Given the description of an element on the screen output the (x, y) to click on. 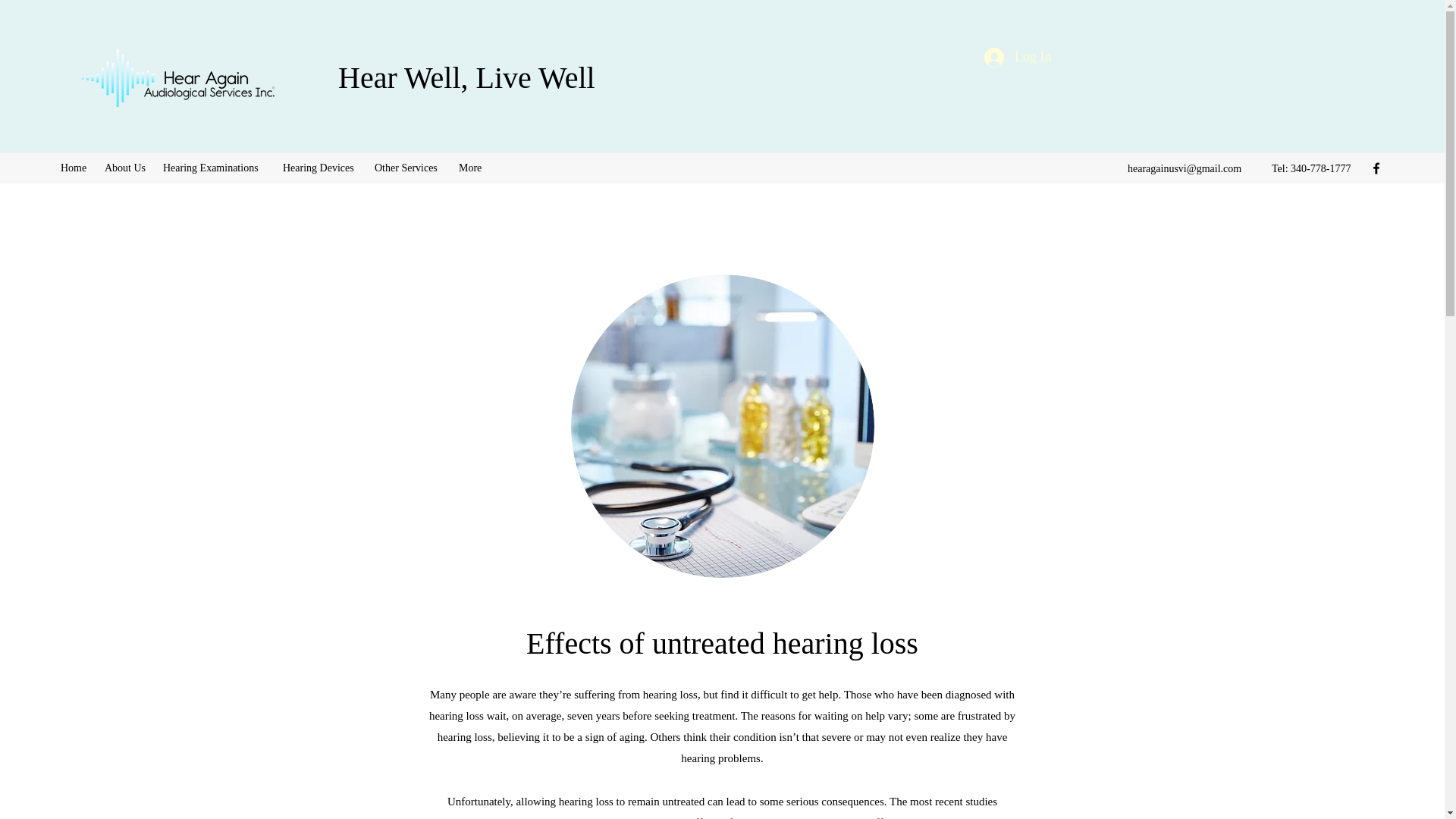
Other Services (408, 168)
About Us (126, 168)
Hearing Examinations (215, 168)
Hearing Devices (320, 168)
Home (74, 168)
Log In (1018, 57)
